Given the description of an element on the screen output the (x, y) to click on. 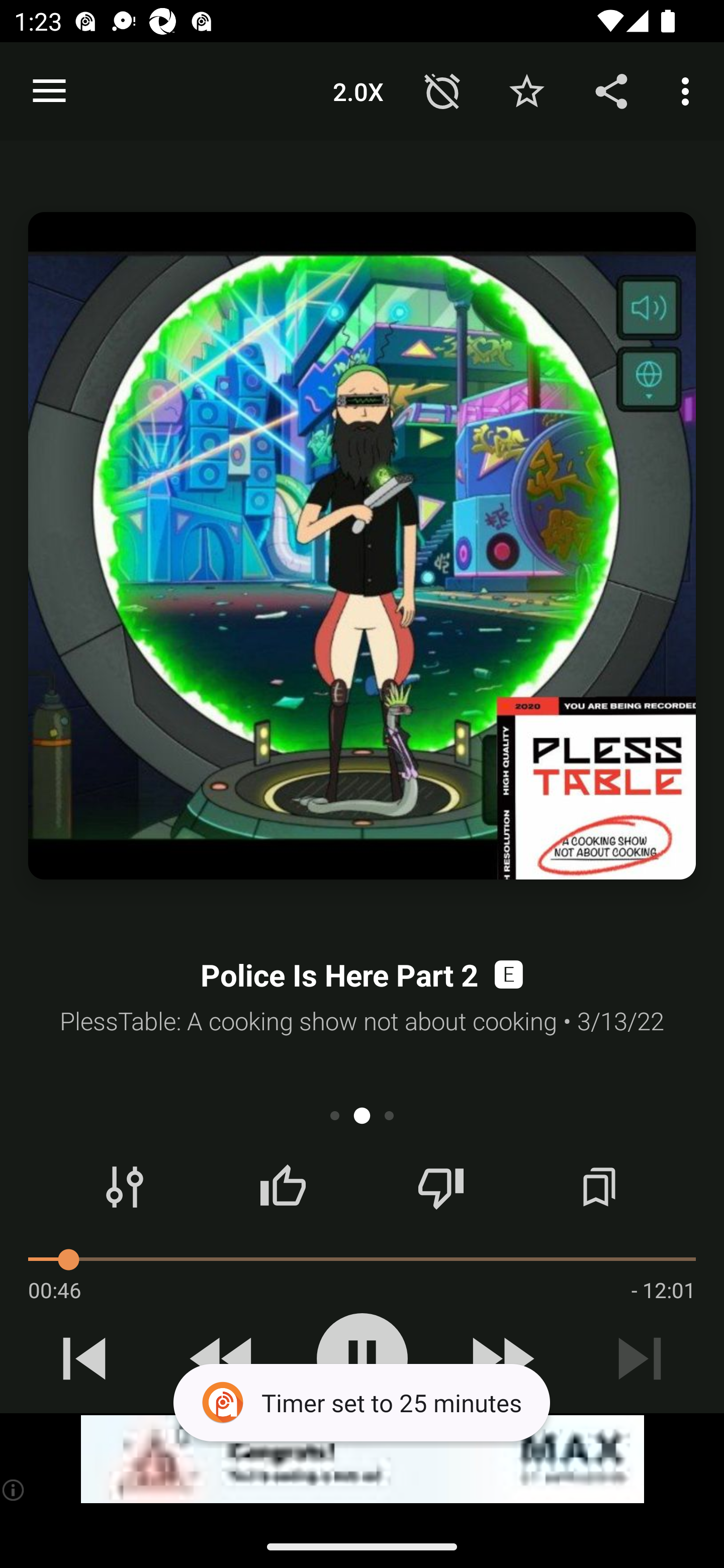
Open navigation sidebar (49, 91)
2.0X (357, 90)
Sleep Timer (442, 90)
Favorite (526, 90)
Share (611, 90)
More options (688, 90)
Episode description (361, 545)
Audio effects (124, 1186)
Thumbs up (283, 1186)
Thumbs down (440, 1186)
Chapters / Bookmarks (598, 1186)
- 12:01 (663, 1289)
Previous track (84, 1358)
Next track (639, 1358)
app-monetization (362, 1459)
(i) (14, 1489)
